Given the description of an element on the screen output the (x, y) to click on. 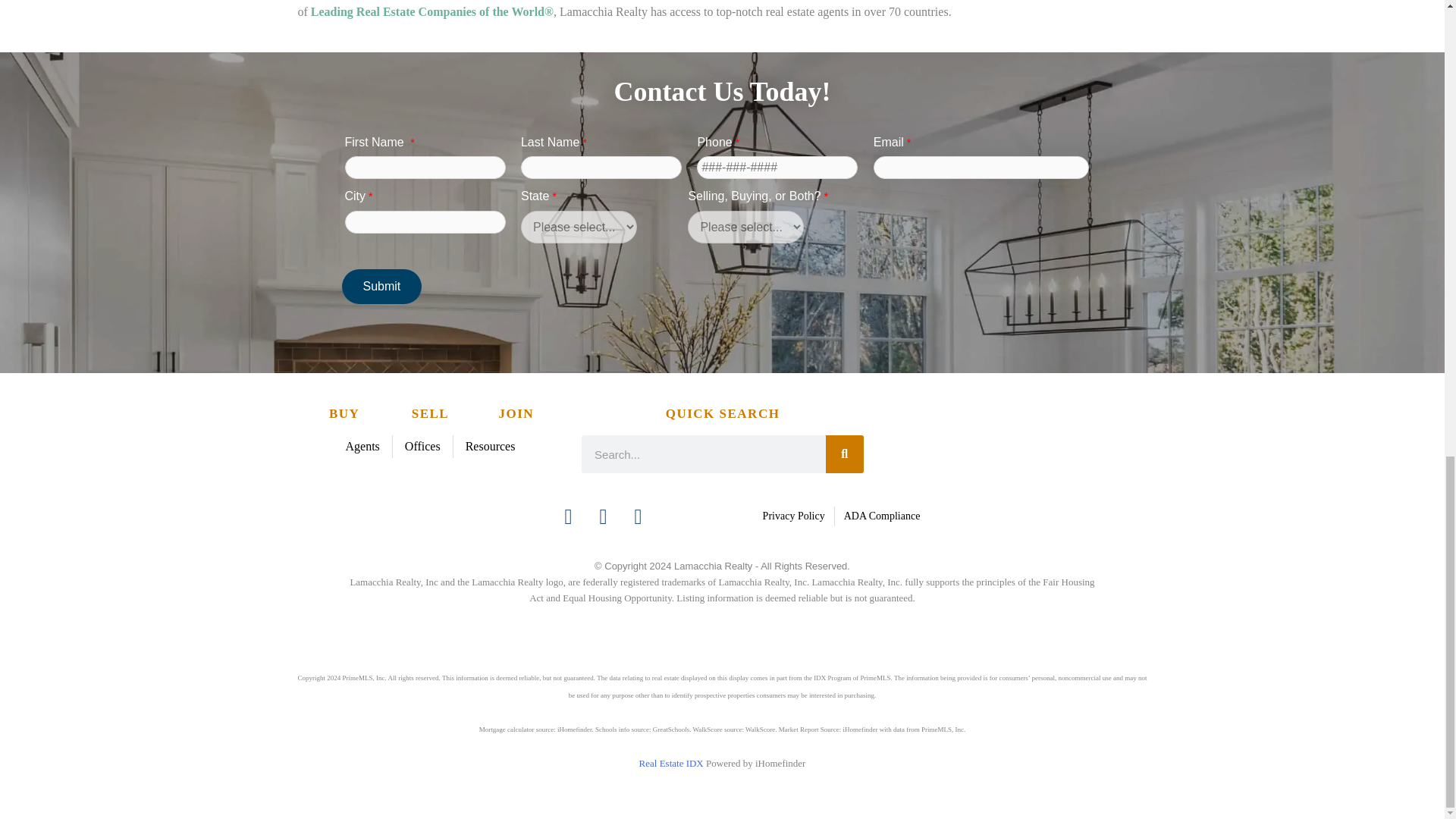
SELL (430, 413)
Phone (777, 167)
BUY (344, 413)
First Name  (424, 167)
Selling, Buying, or Both? (745, 226)
City (424, 221)
State (579, 226)
Submit (381, 286)
Email (981, 167)
JOIN (515, 413)
Submit (381, 286)
Last Name (601, 167)
